Given the description of an element on the screen output the (x, y) to click on. 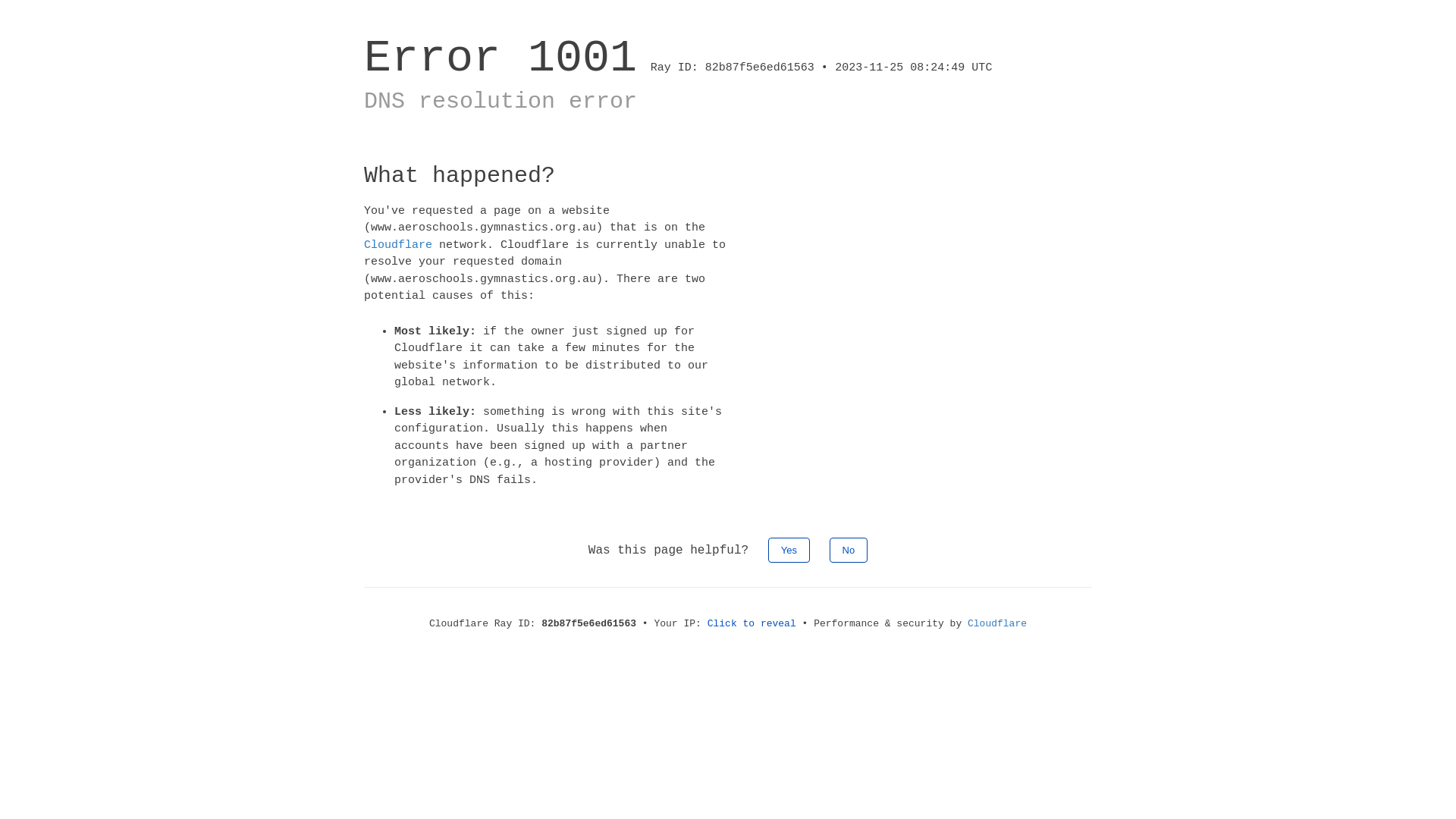
Cloudflare Element type: text (398, 244)
Yes Element type: text (788, 549)
No Element type: text (848, 549)
Cloudflare Element type: text (996, 623)
Click to reveal Element type: text (751, 623)
